Given the description of an element on the screen output the (x, y) to click on. 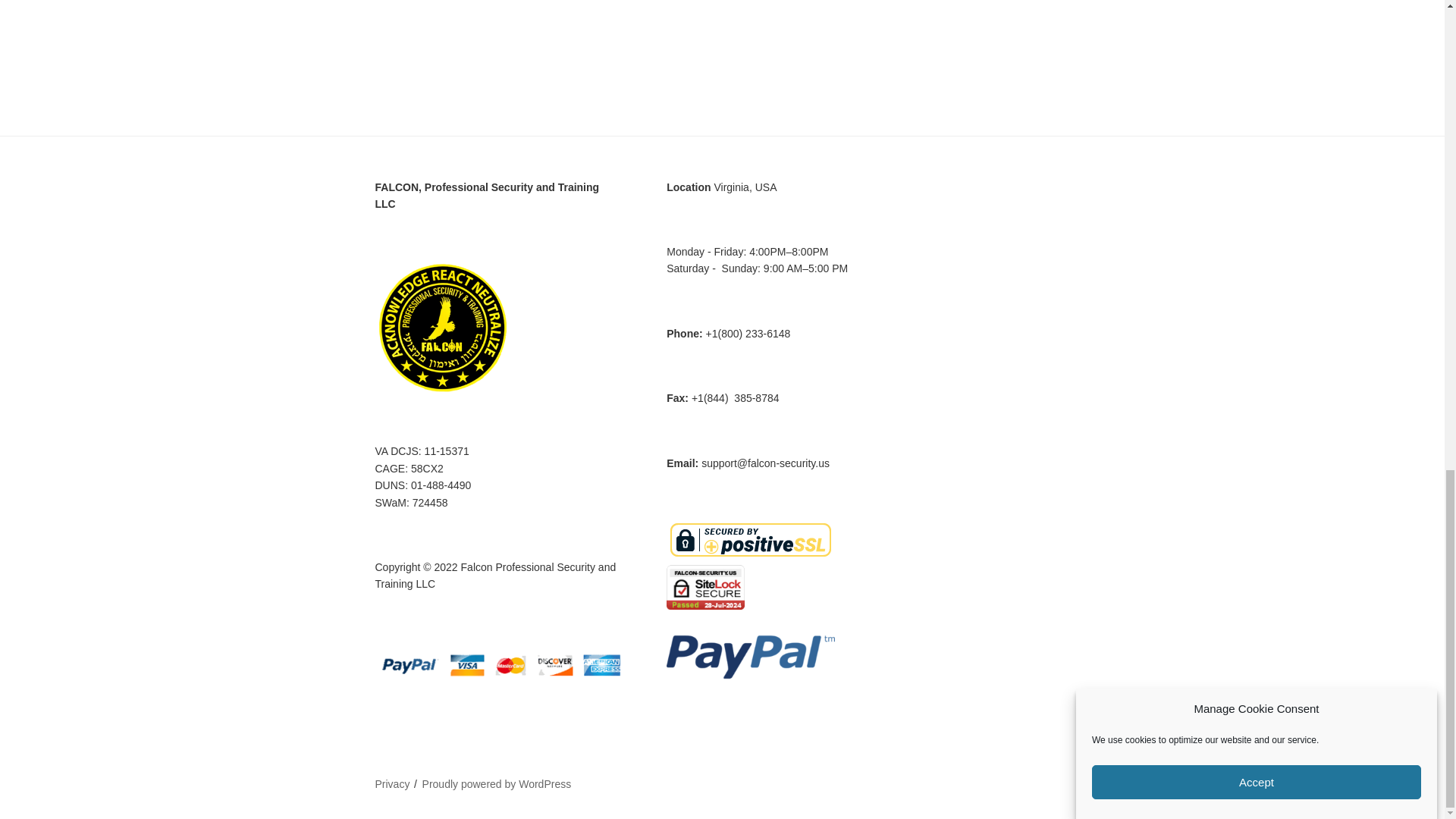
SiteLock (705, 587)
Masada Armour Logo (500, 24)
marom dolphin logo (781, 24)
